Given the description of an element on the screen output the (x, y) to click on. 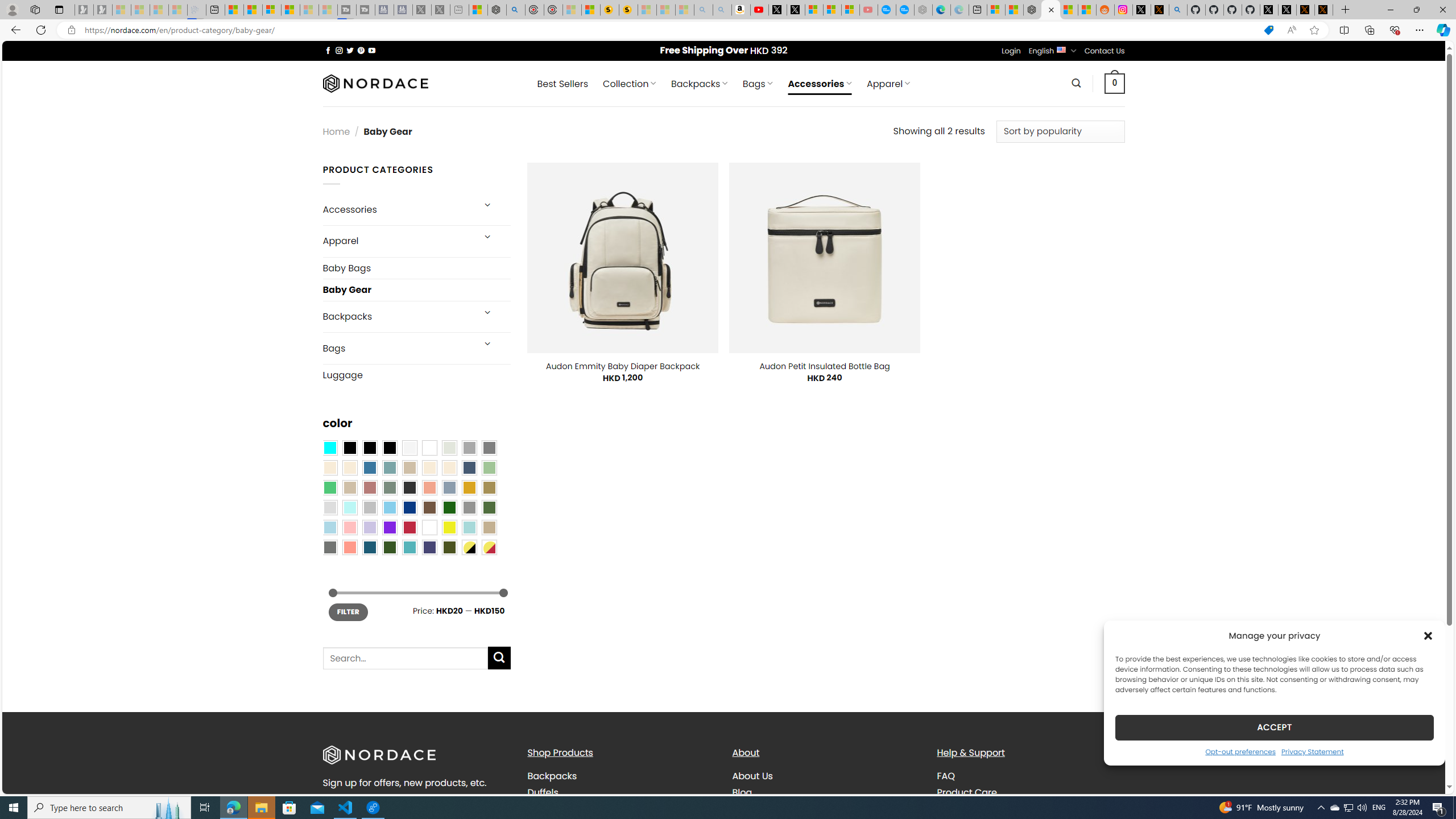
Follow on Instagram (338, 49)
Cream (449, 467)
Green (488, 507)
Kelp (488, 487)
Go to top (1421, 777)
Charcoal (408, 487)
All Gray (488, 447)
Luggage (416, 374)
  0   (1115, 83)
poe - Search (515, 9)
Dull Nickle (329, 547)
Light Taupe (349, 487)
Brown (429, 507)
